Given the description of an element on the screen output the (x, y) to click on. 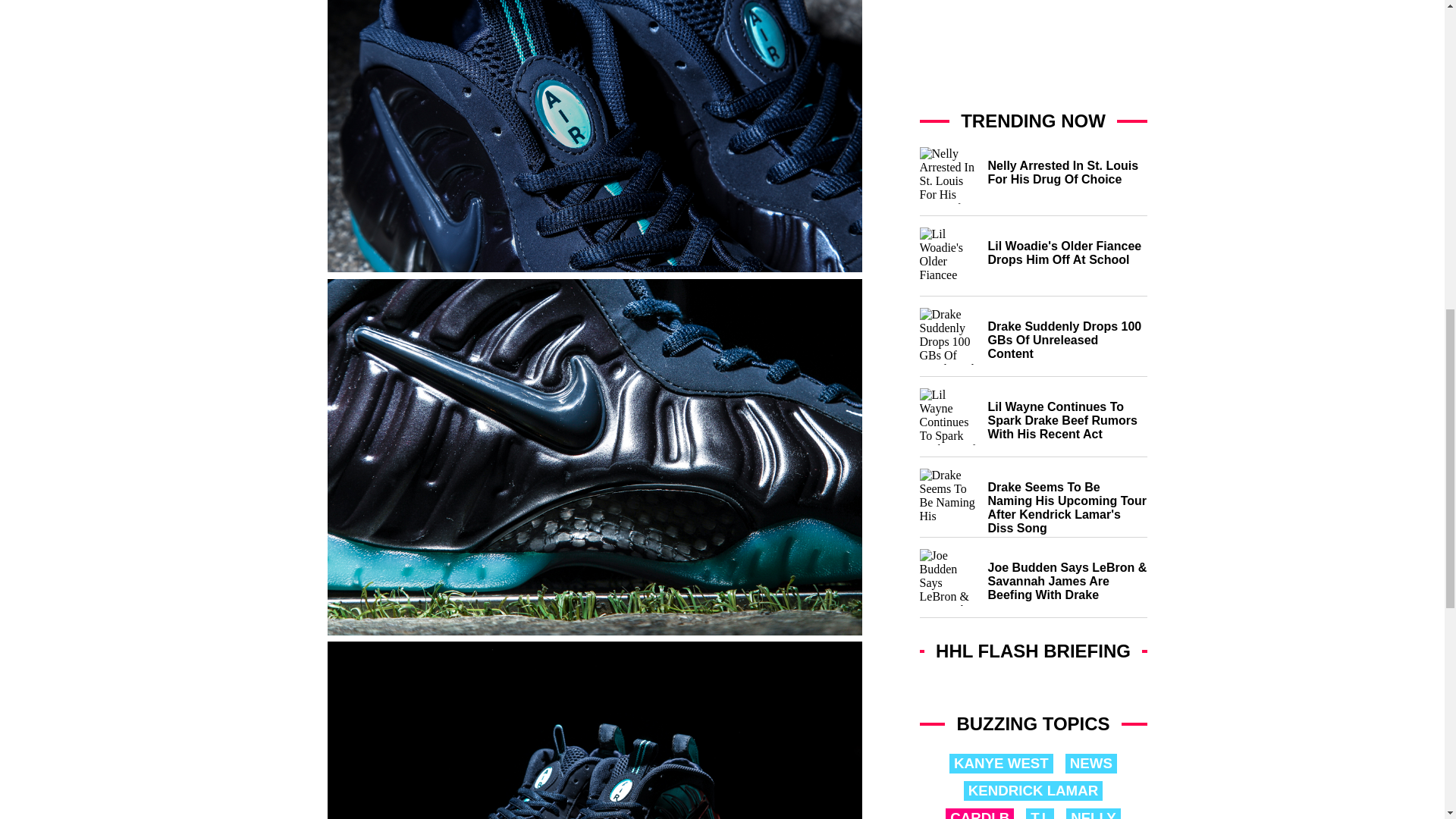
T.I. (1040, 813)
Nelly Arrested In St. Louis For His Drug Of Choice (1032, 181)
KANYE WEST (1000, 763)
NELLY (1093, 813)
KENDRICK LAMAR (1032, 790)
Drake Suddenly Drops 100 GBs Of Unreleased Content (1032, 341)
Lil Woadie's Older Fiancee Drops Him Off At School (1032, 261)
NEWS (1090, 763)
Listen to the latest news on your Alexa Device! (1032, 683)
